Given the description of an element on the screen output the (x, y) to click on. 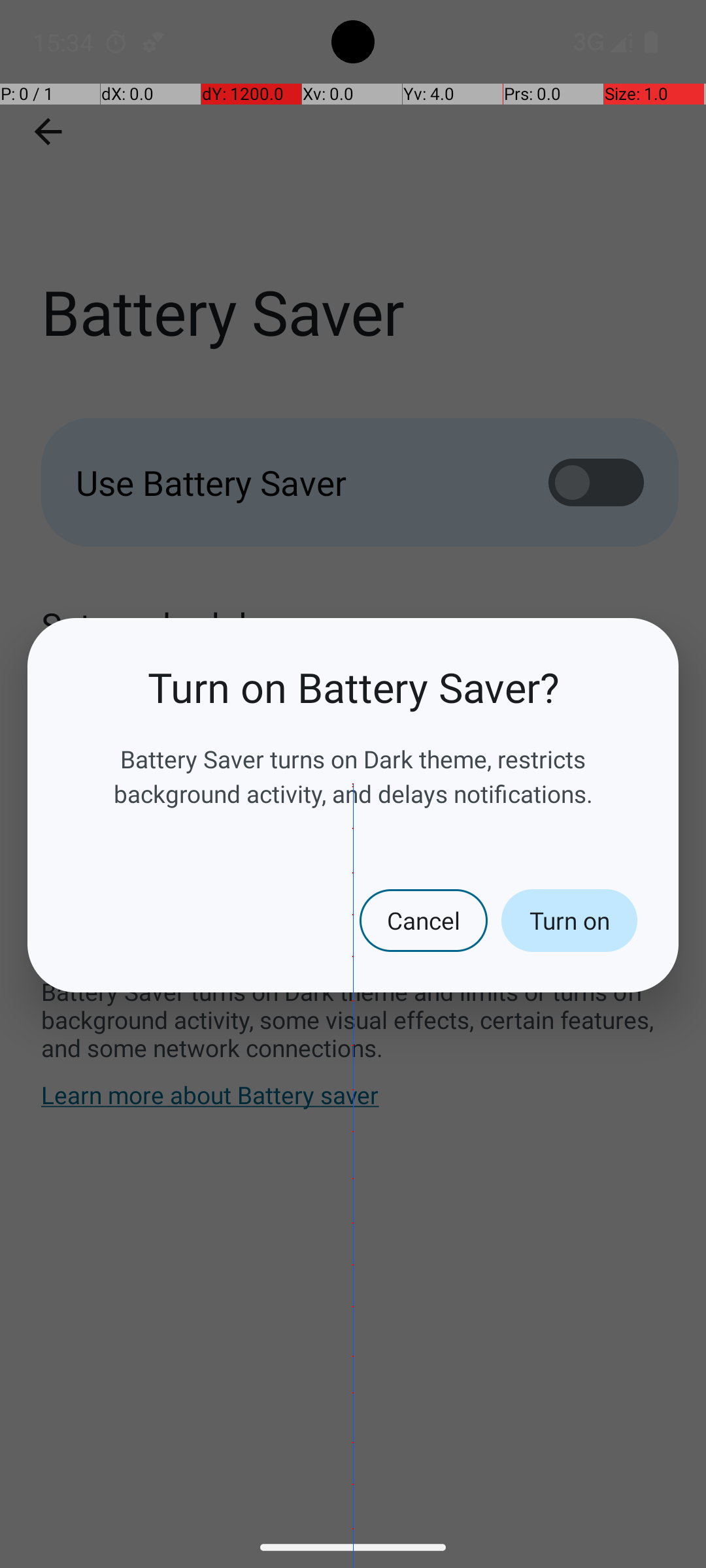
Turn on Battery Saver? Element type: android.widget.TextView (352, 686)
Battery Saver turns on Dark theme, restricts background activity, and delays notifications. Element type: android.widget.TextView (352, 776)
